Given the description of an element on the screen output the (x, y) to click on. 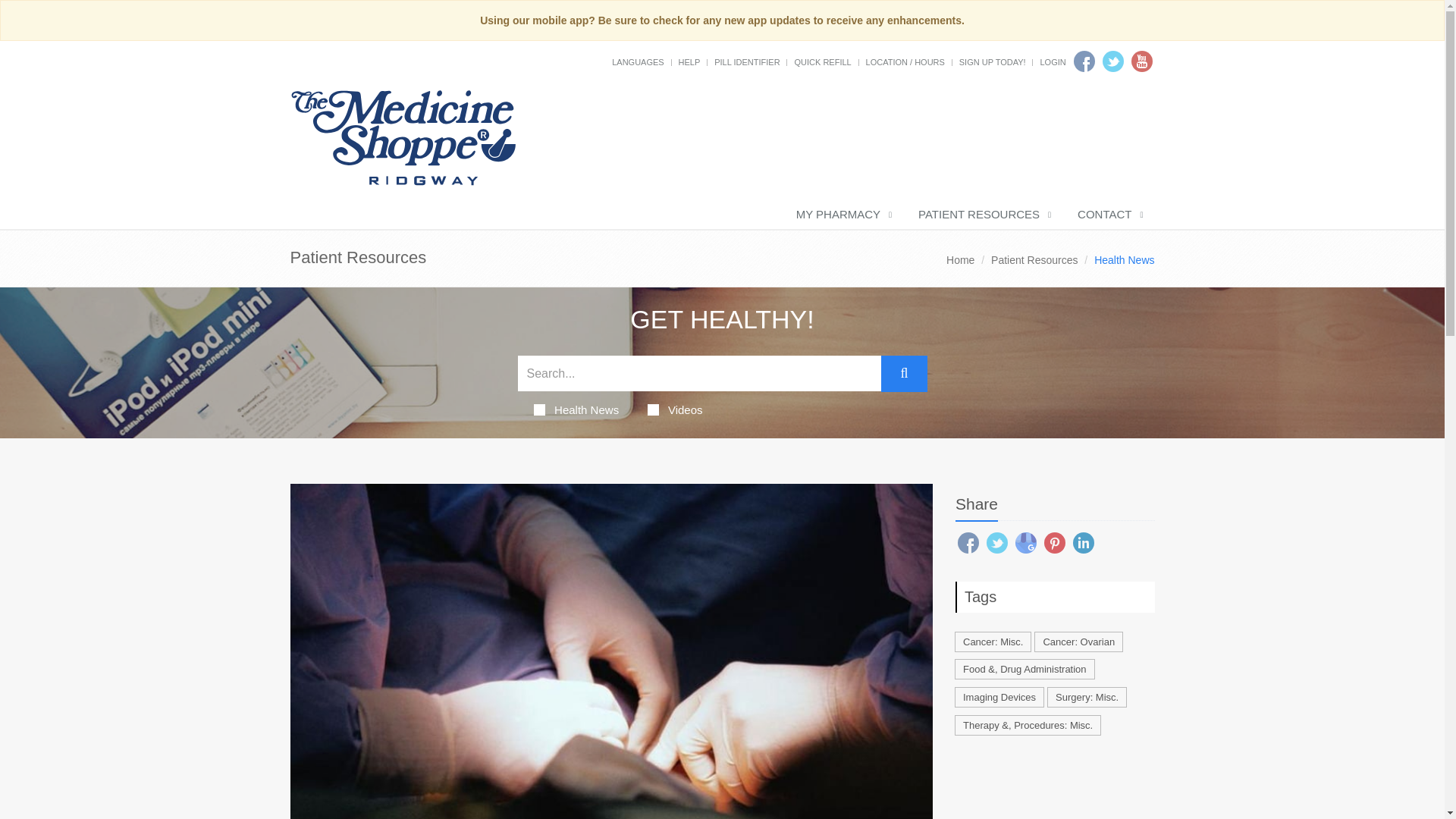
LOGIN (1052, 61)
PATIENT RESOURCES (982, 214)
LANGUAGES (637, 61)
CONTACT (1108, 214)
Home (960, 259)
MY PHARMACY (841, 214)
PILL IDENTIFIER (746, 61)
SIGN UP TODAY! (992, 61)
QUICK REFILL (821, 61)
Patient Resources (1034, 259)
HELP (689, 61)
